Given the description of an element on the screen output the (x, y) to click on. 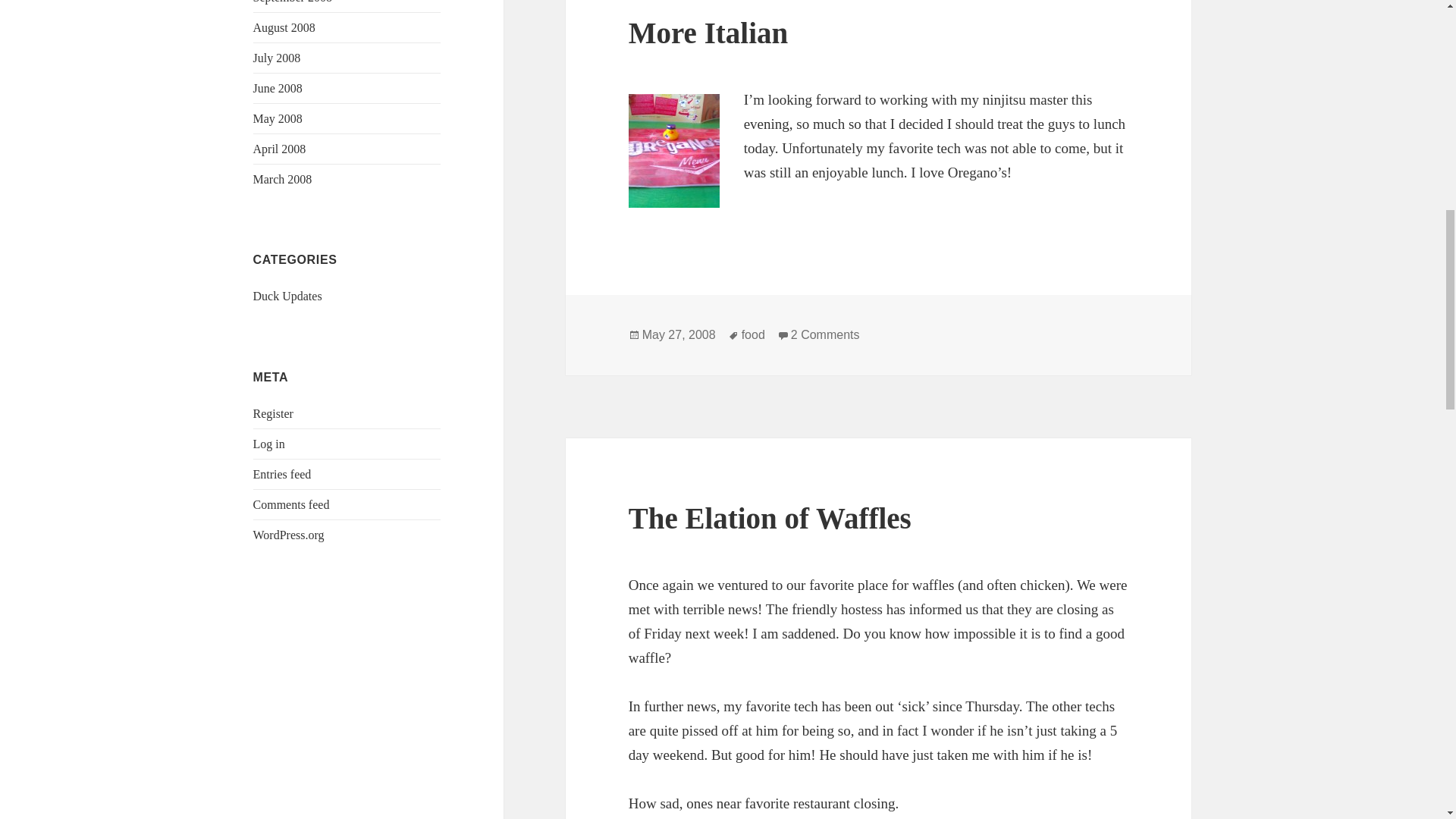
Entries feed (282, 473)
July 2008 (277, 57)
May 27, 2008 (679, 335)
May 2008 (277, 118)
September 2008 (292, 2)
August 2008 (284, 27)
April 2008 (279, 148)
Log in (269, 443)
Comments feed (291, 504)
More Italian (708, 32)
